Given the description of an element on the screen output the (x, y) to click on. 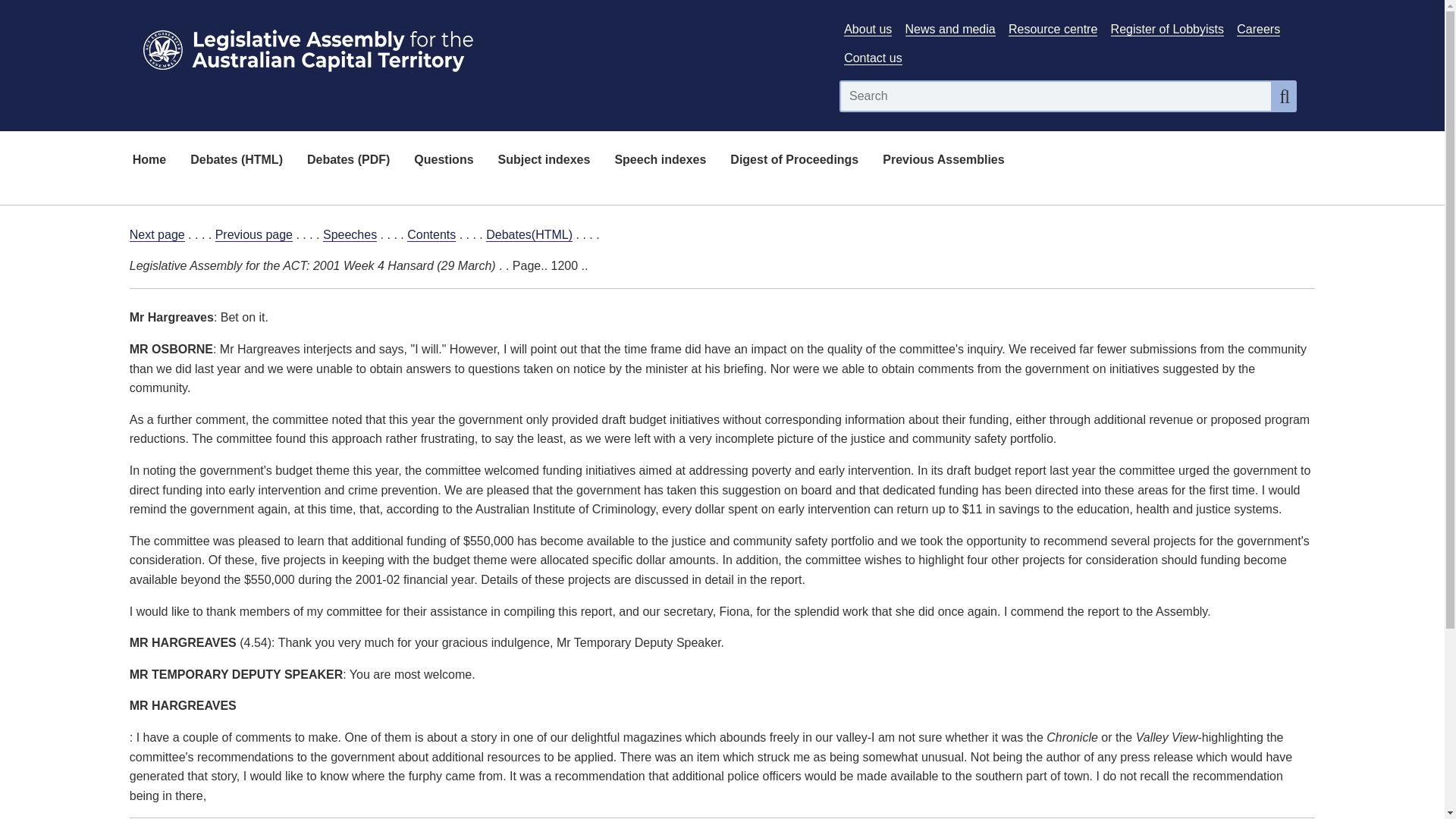
Link to Homepage (475, 46)
Subject indexes (544, 160)
News and media (950, 29)
Previous page (253, 234)
Link to Contact Us (872, 58)
Careers (1257, 29)
Speech indexes (659, 160)
Home (148, 160)
Link to Resource centre (1053, 29)
Contact us (872, 58)
